Given the description of an element on the screen output the (x, y) to click on. 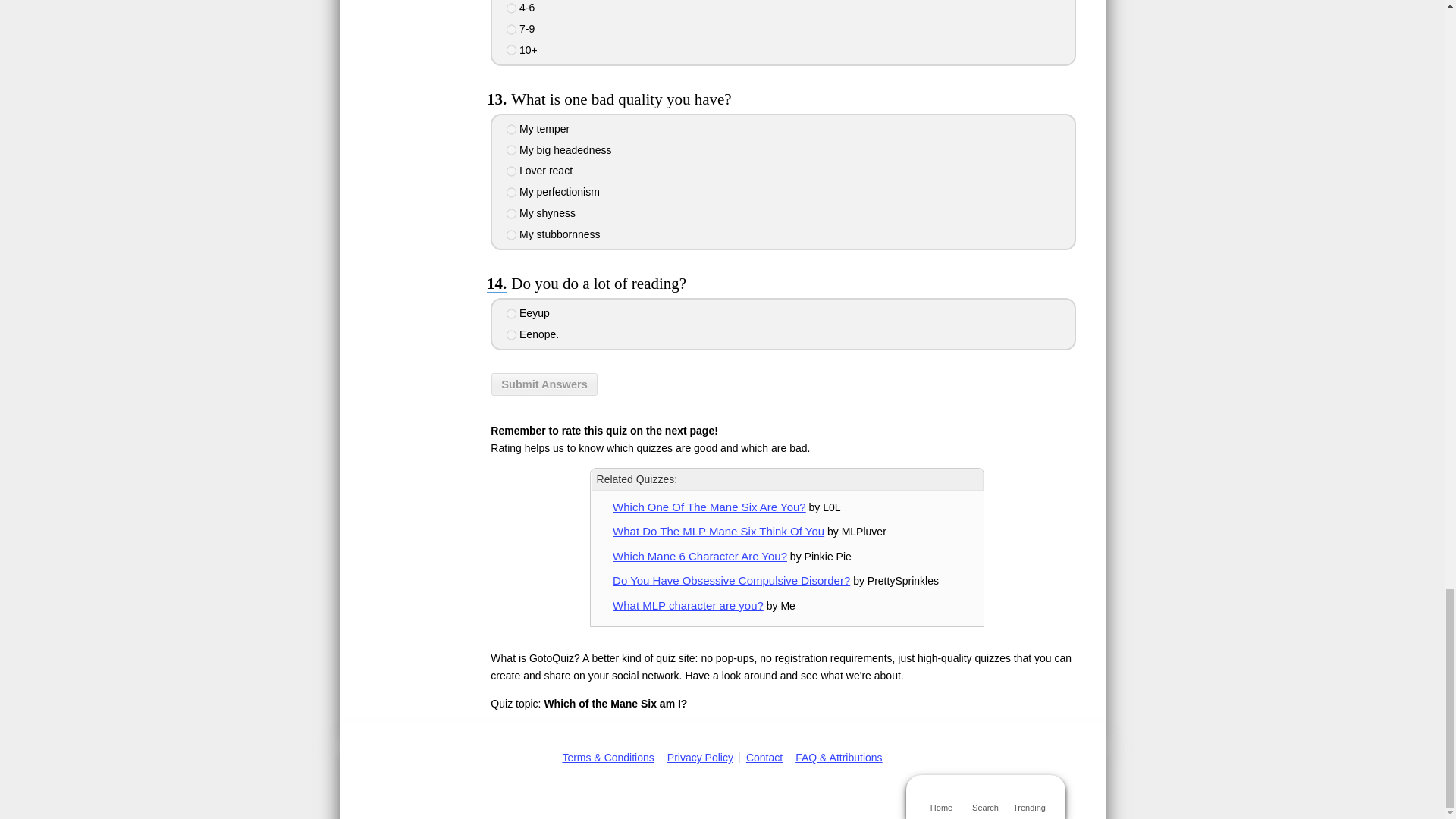
What MLP character are you? (687, 604)
Which Mane 6 Character Are You? (699, 555)
Submit Answers (544, 384)
Privacy Policy (699, 757)
Contact (764, 757)
Which One Of The Mane Six Are You? (709, 506)
Do You Have Obsessive Compulsive Disorder? (731, 580)
What Do The MLP Mane Six Think Of You (718, 530)
